Given the description of an element on the screen output the (x, y) to click on. 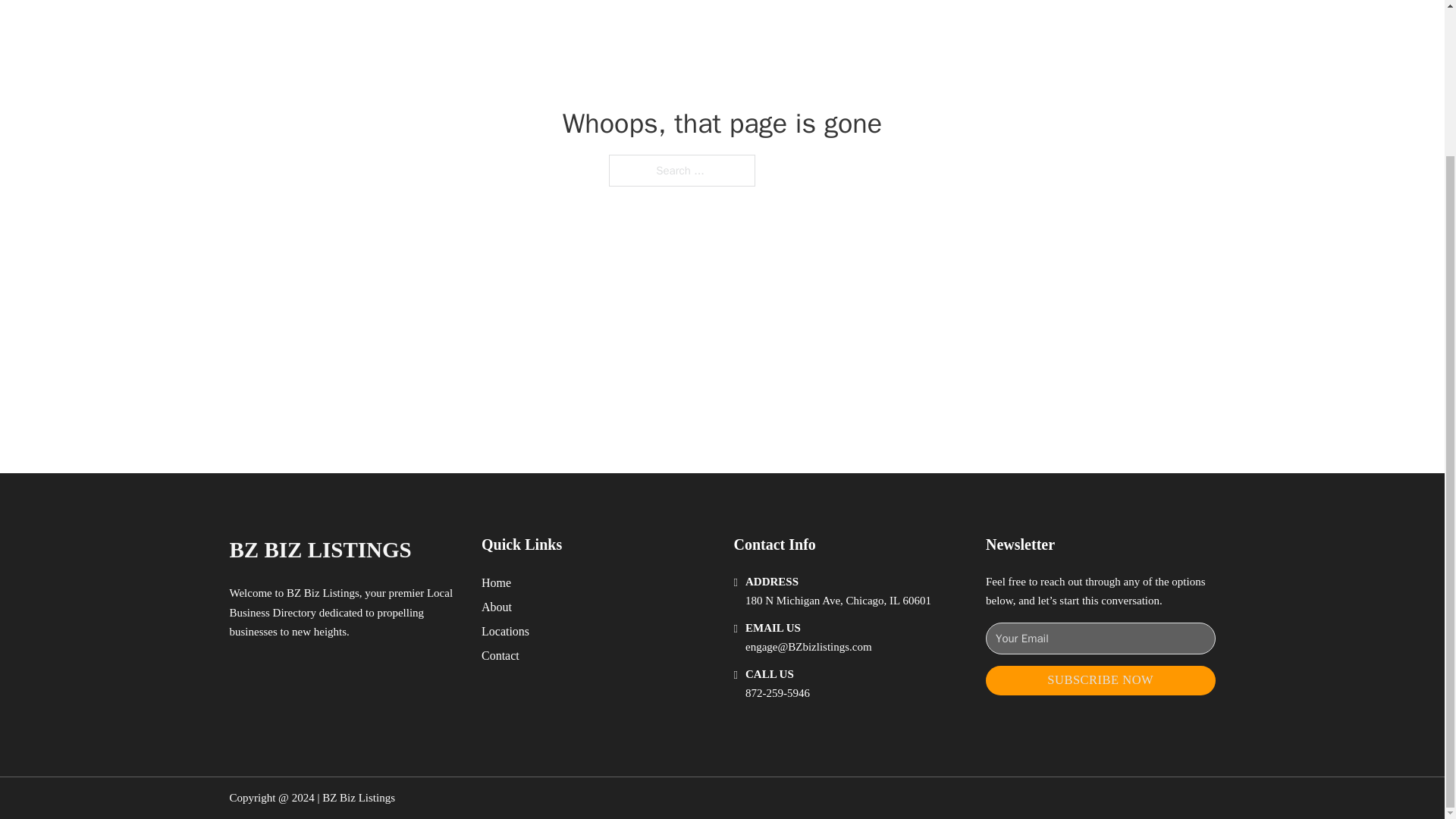
Contact (500, 655)
BZ BIZ LISTINGS (319, 549)
Locations (505, 630)
Home (496, 582)
About (496, 607)
SUBSCRIBE NOW (1100, 680)
872-259-5946 (777, 693)
